Given the description of an element on the screen output the (x, y) to click on. 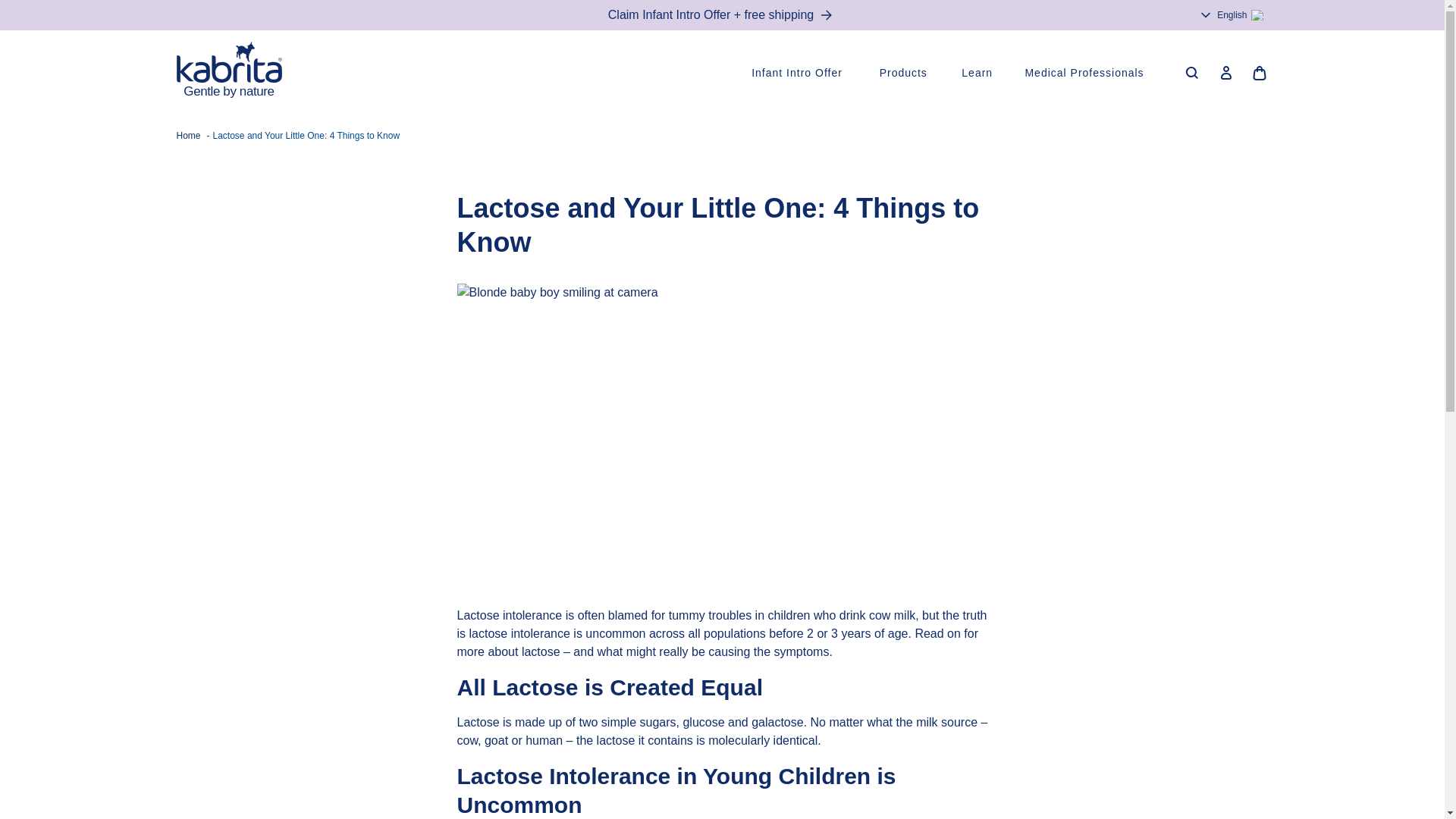
Medical Professionals (1088, 73)
Open cart drawer (1258, 73)
Infant Intro Offer (799, 73)
Products (905, 73)
Gentle by nature (228, 73)
Goat Milk Formula - Kabrita USA (228, 73)
SKIP TO CONTENT (15, 11)
Products (905, 73)
Infant Intro Offer (799, 73)
Open cart drawer (1258, 73)
